Given the description of an element on the screen output the (x, y) to click on. 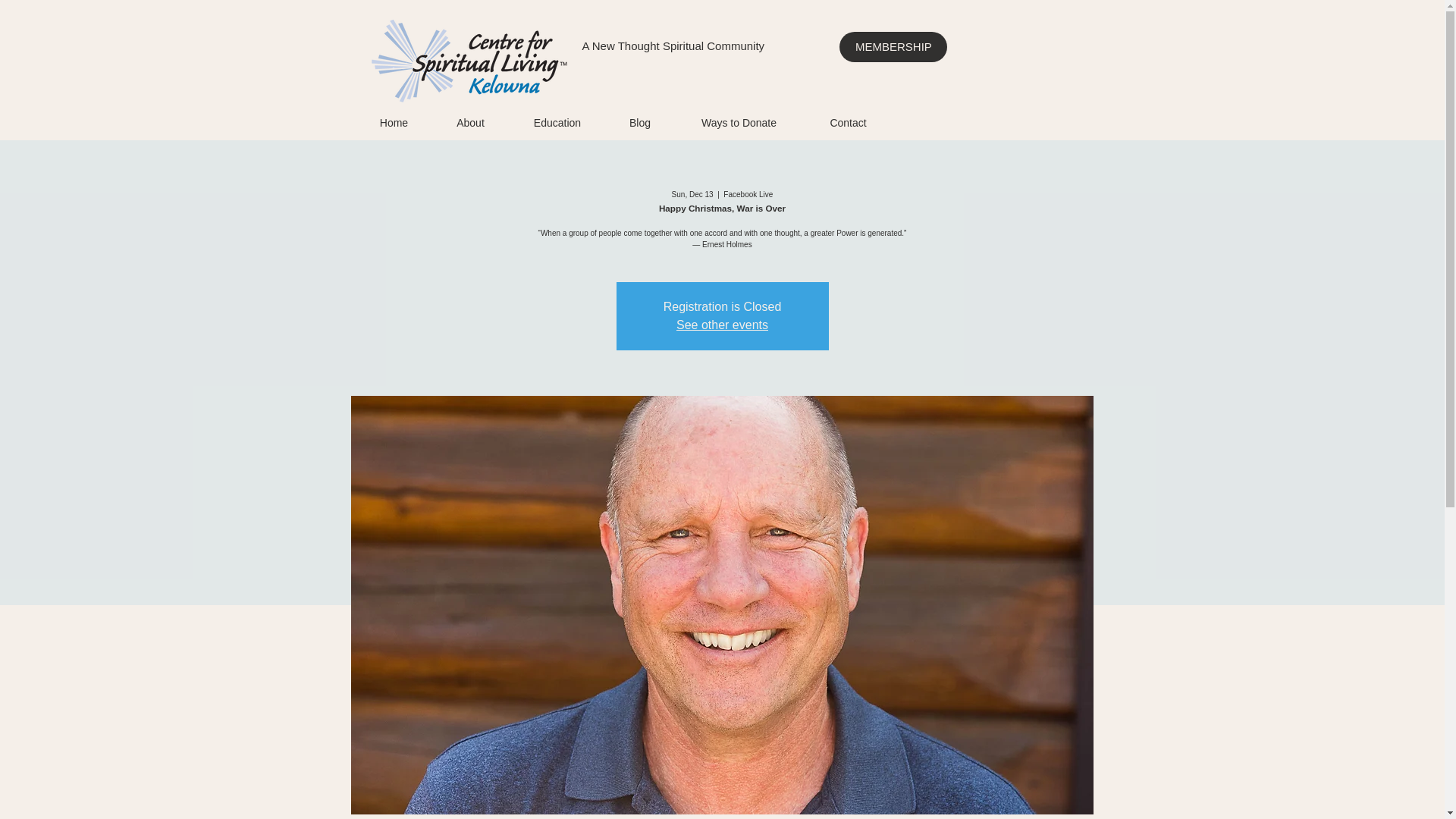
Blog (640, 119)
Ways to Donate (737, 119)
Home (393, 119)
MEMBERSHIP (893, 46)
Education (556, 119)
See other events (722, 324)
Contact (847, 119)
About (470, 119)
